Given the description of an element on the screen output the (x, y) to click on. 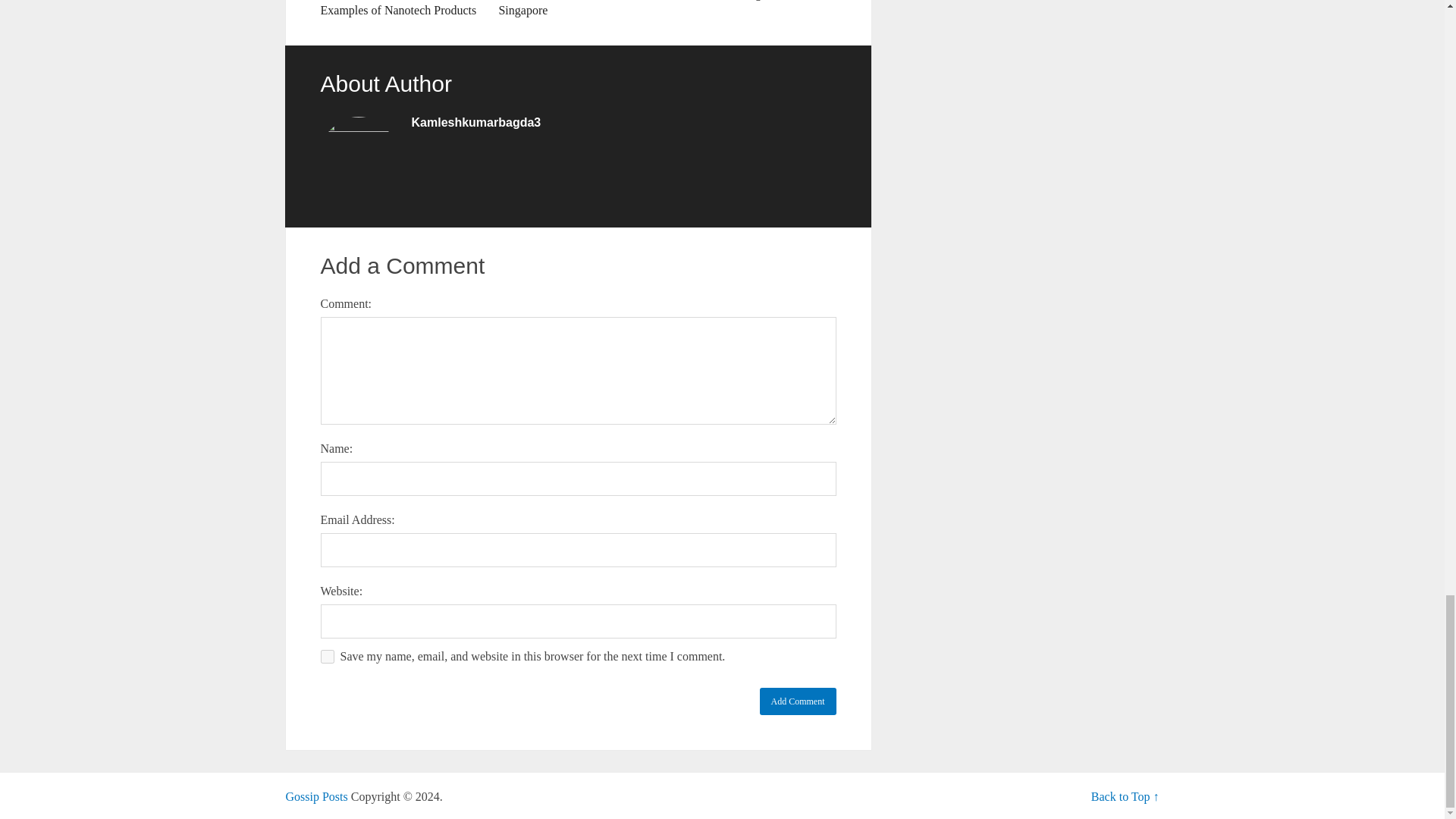
Digital Advertising Agencies In Singapore (577, 9)
Today's Gossip (316, 796)
Some Of The Everyday Examples of Nanotech Products (399, 9)
What Is Internet? Advantages And Disadvantages Of It. (756, 1)
yes (326, 656)
What Is Internet? Advantages And Disadvantages Of It. (756, 1)
Digital Advertising Agencies In Singapore (577, 9)
Some Of The Everyday Examples of Nanotech Products (399, 9)
Add Comment (797, 700)
Add Comment (797, 700)
